Given the description of an element on the screen output the (x, y) to click on. 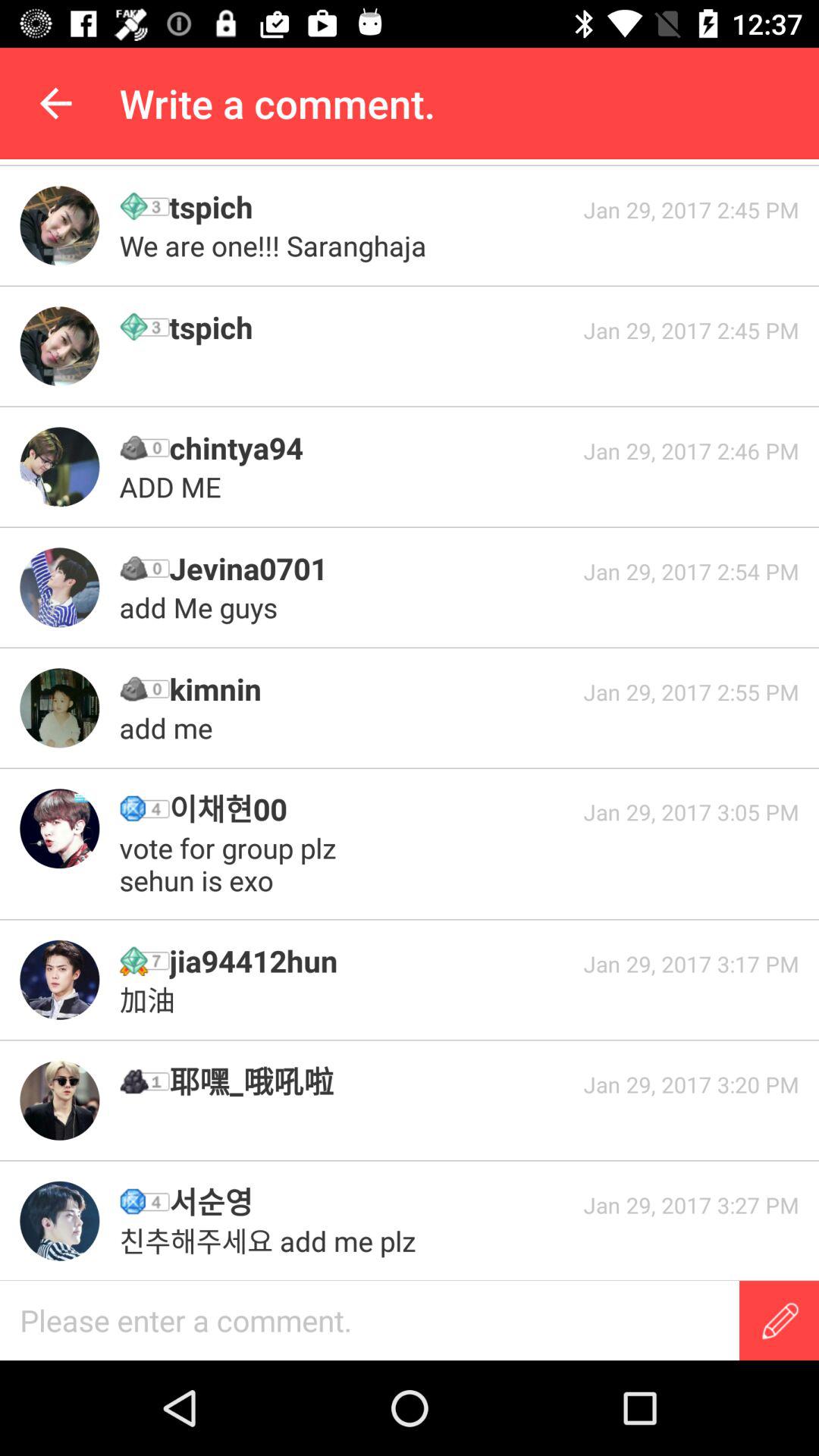
press the item above tspich item (276, 245)
